Given the description of an element on the screen output the (x, y) to click on. 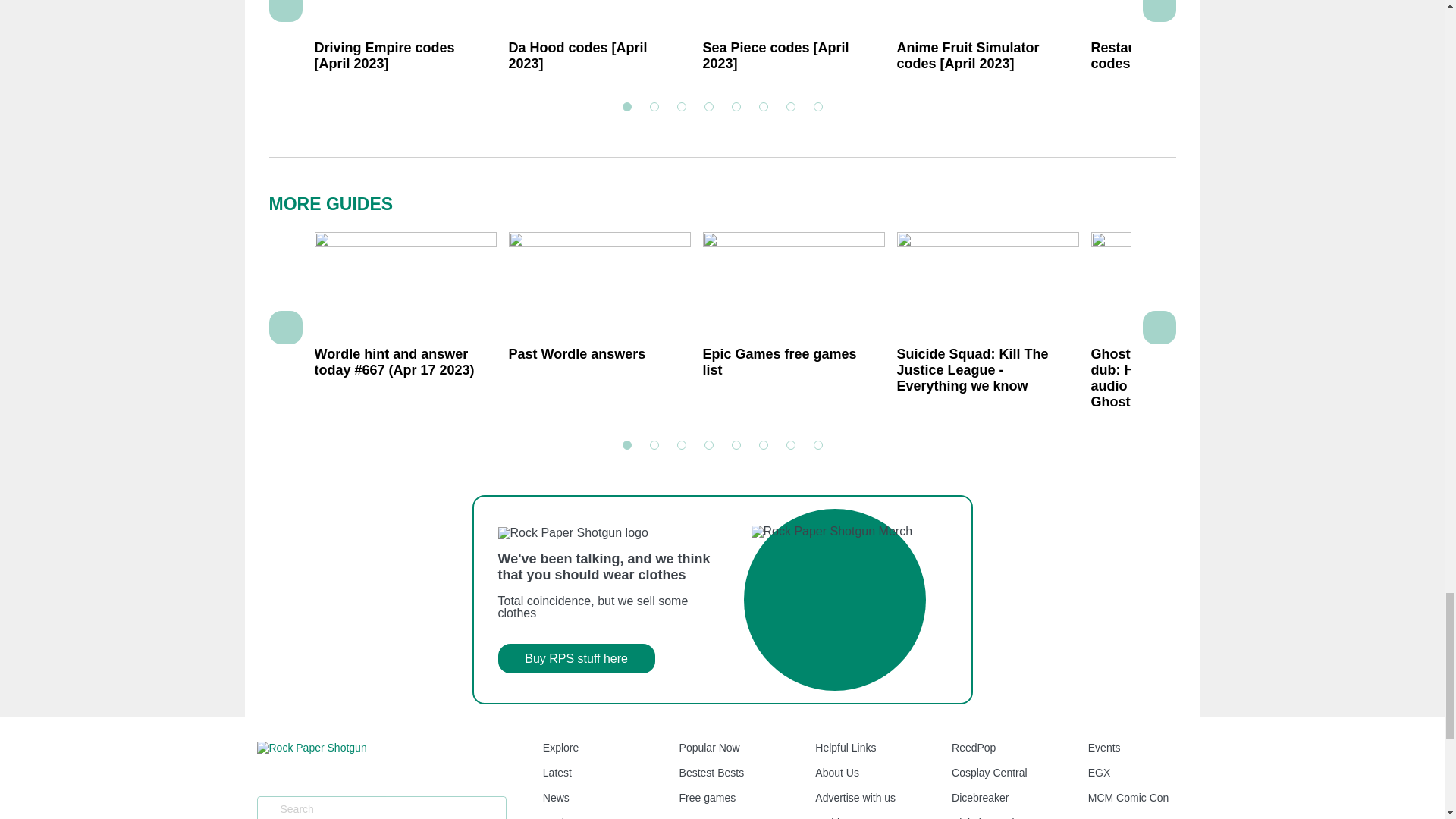
Move backwards (285, 327)
Move forwards (1158, 10)
Past Wordle answers (599, 326)
Move backwards (285, 10)
